Given the description of an element on the screen output the (x, y) to click on. 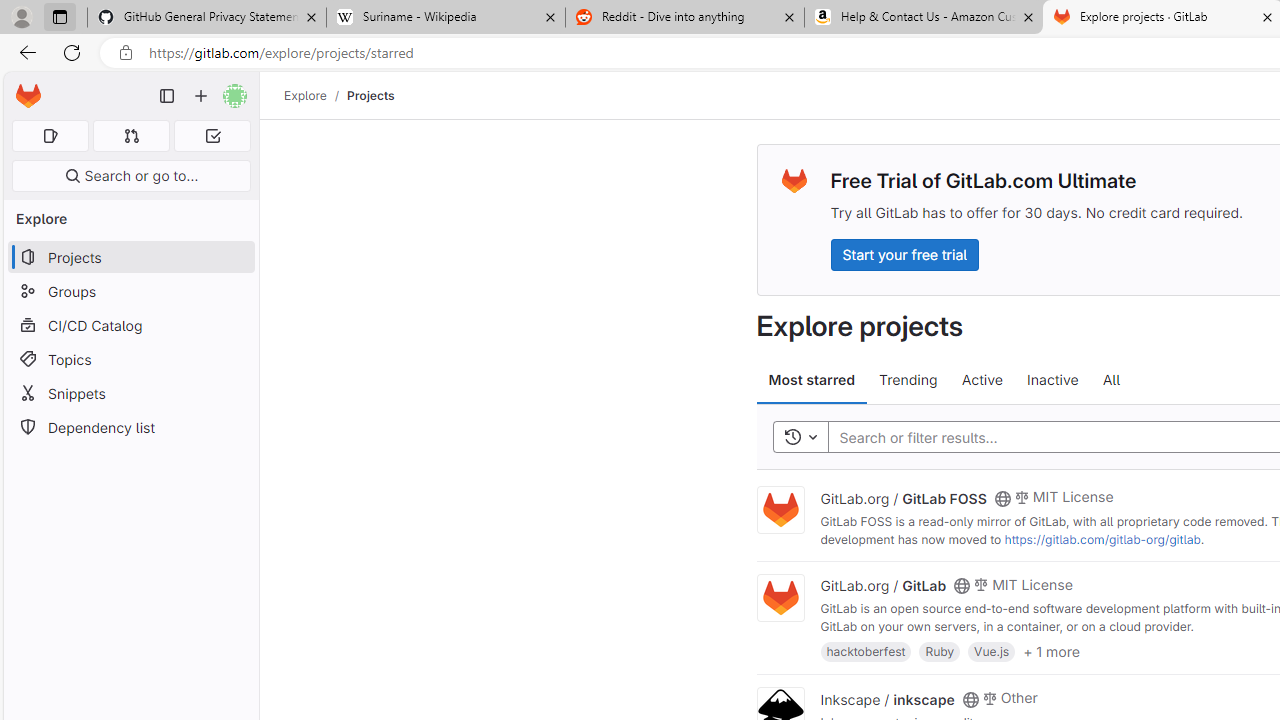
Trending (907, 379)
Snippets (130, 393)
Merge requests 0 (131, 136)
Inactive (1052, 379)
Start your free trial (904, 254)
GitLab.org / GitLab FOSS (903, 497)
CI/CD Catalog (130, 325)
Topics (130, 358)
Groups (130, 291)
Explore/ (316, 95)
